Given the description of an element on the screen output the (x, y) to click on. 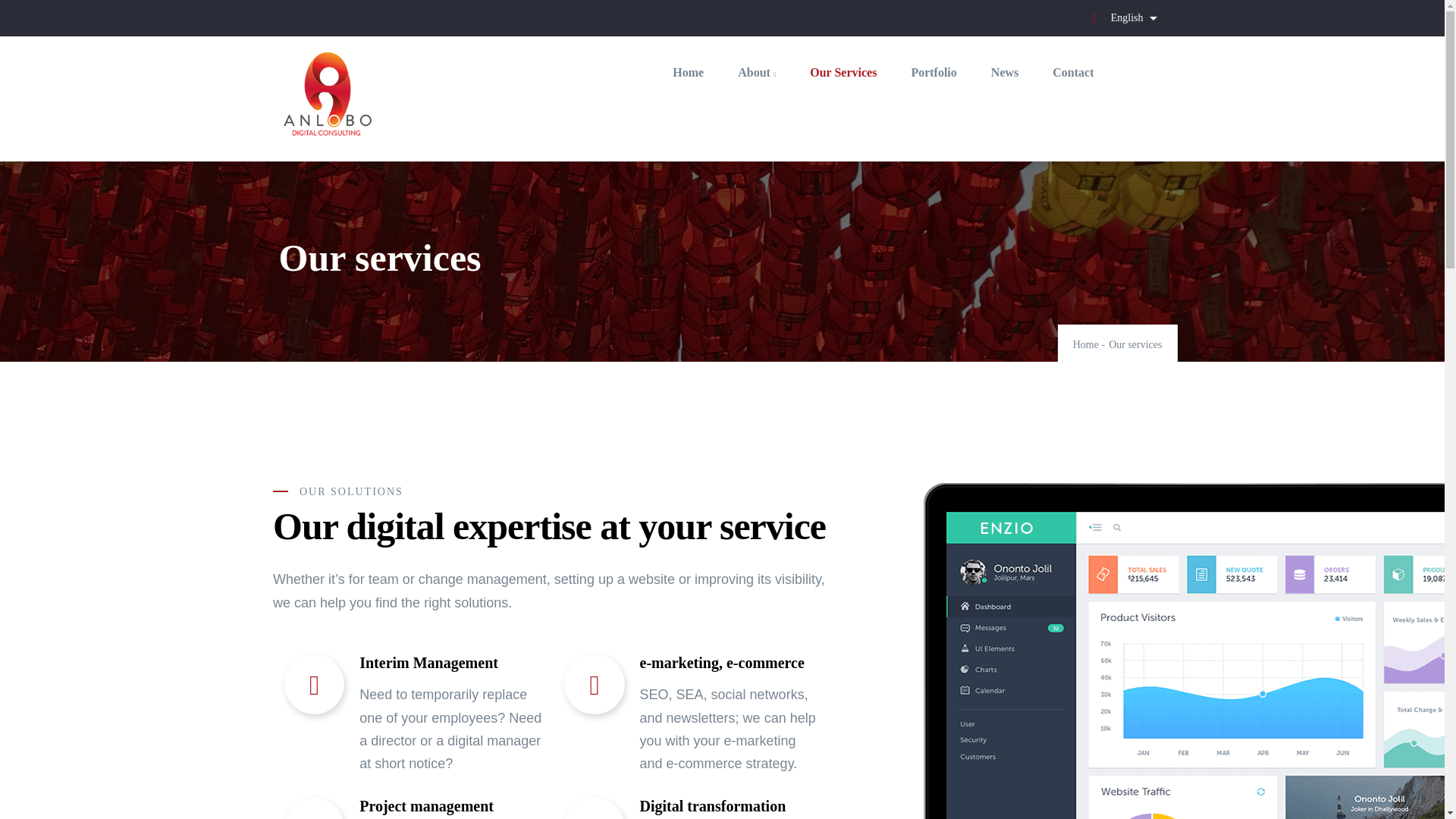
Our Services (842, 72)
About (756, 72)
Portfolio (933, 72)
Home (1086, 344)
Contact (1072, 72)
